Given the description of an element on the screen output the (x, y) to click on. 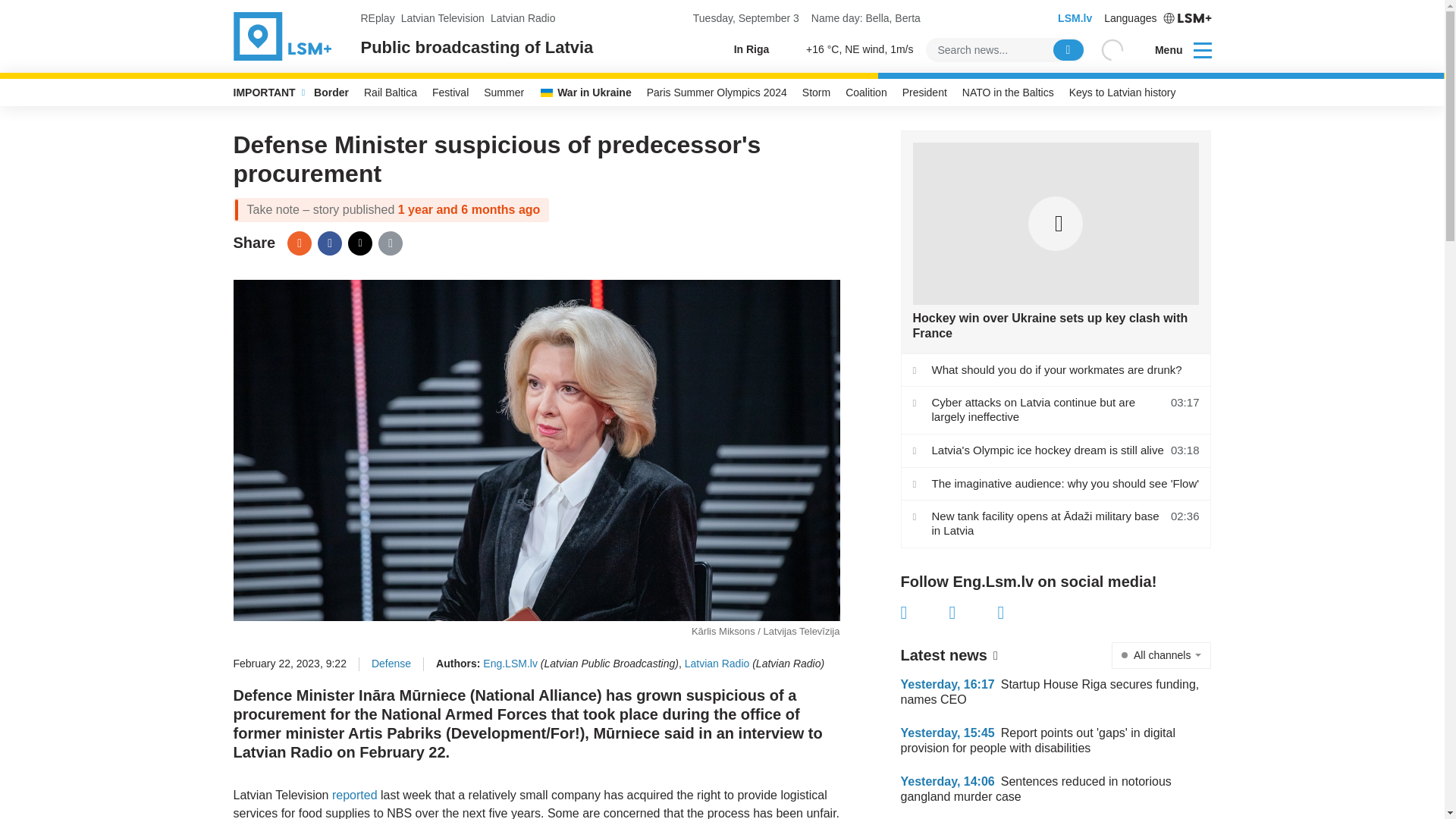
Summer (503, 92)
Linkedin (1021, 612)
Border (330, 92)
President (925, 92)
X (973, 612)
Storm (816, 92)
War in Ukraine (585, 92)
Paris Summer Olympics 2024 (716, 92)
NATO in the Baltics (1008, 92)
Topics (1202, 49)
